Given the description of an element on the screen output the (x, y) to click on. 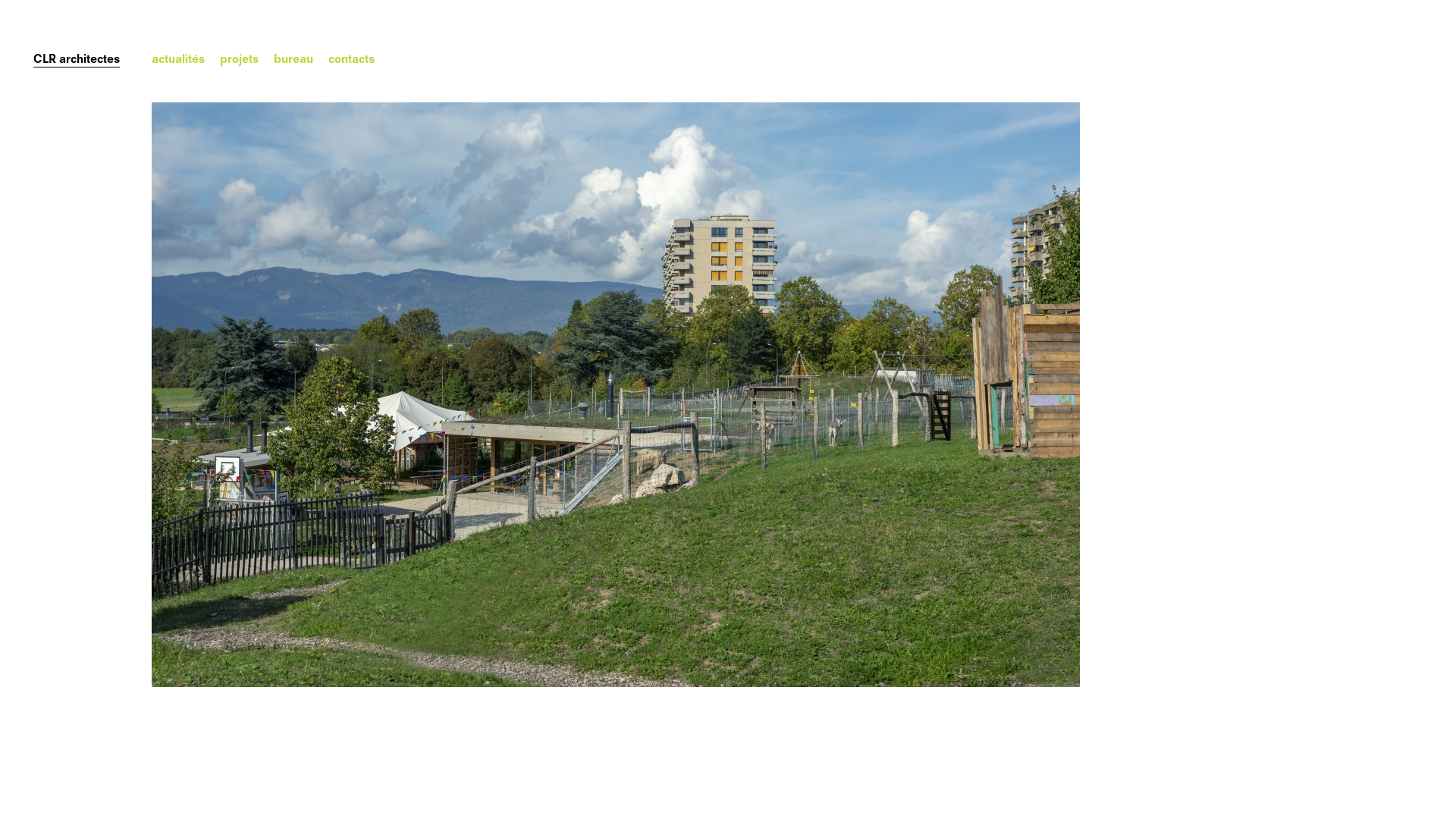
CLR architectes Element type: text (76, 59)
bureau Element type: text (293, 58)
projets Element type: text (238, 58)
contacts Element type: text (351, 58)
